Given the description of an element on the screen output the (x, y) to click on. 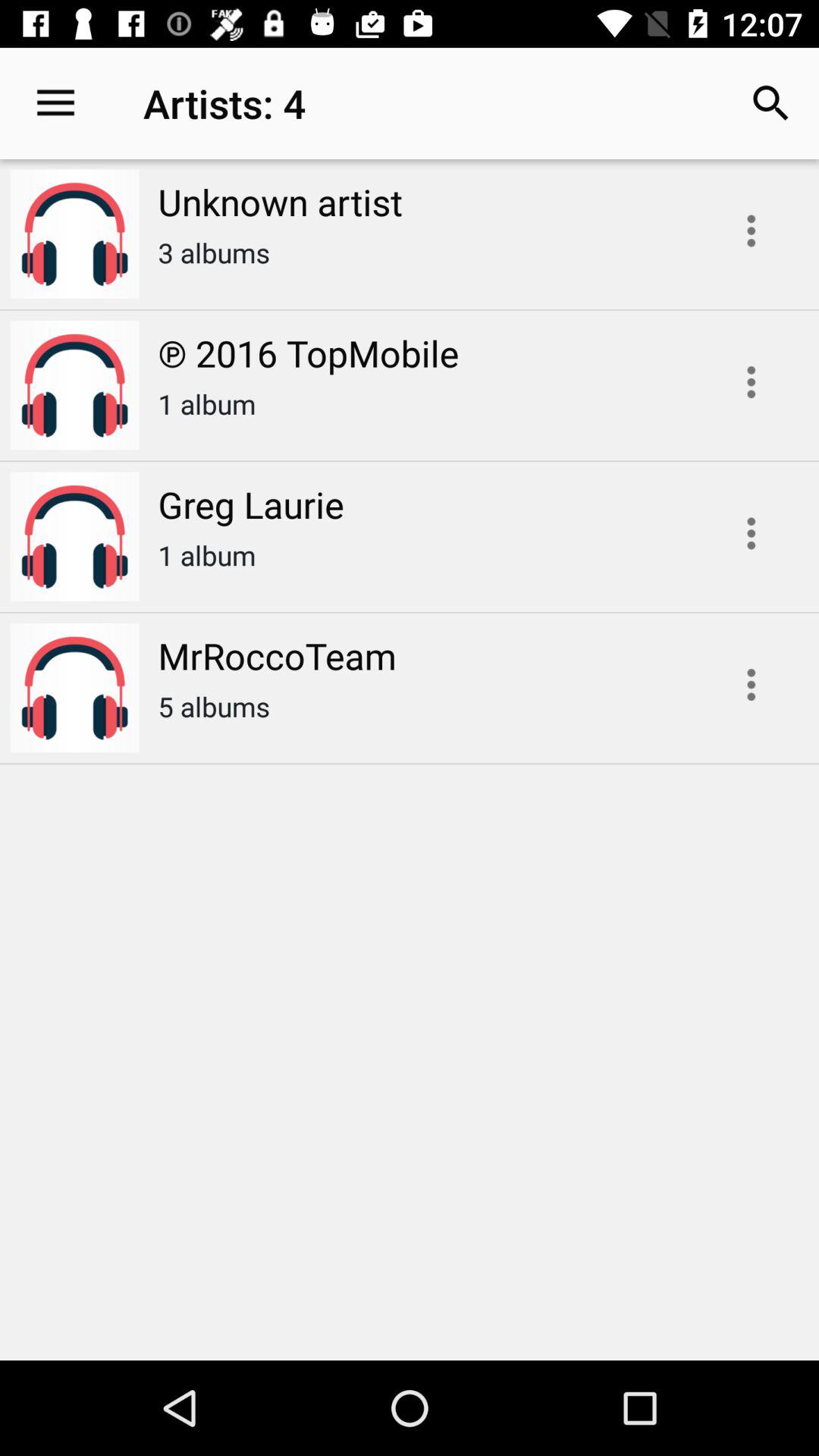
show options (750, 381)
